Given the description of an element on the screen output the (x, y) to click on. 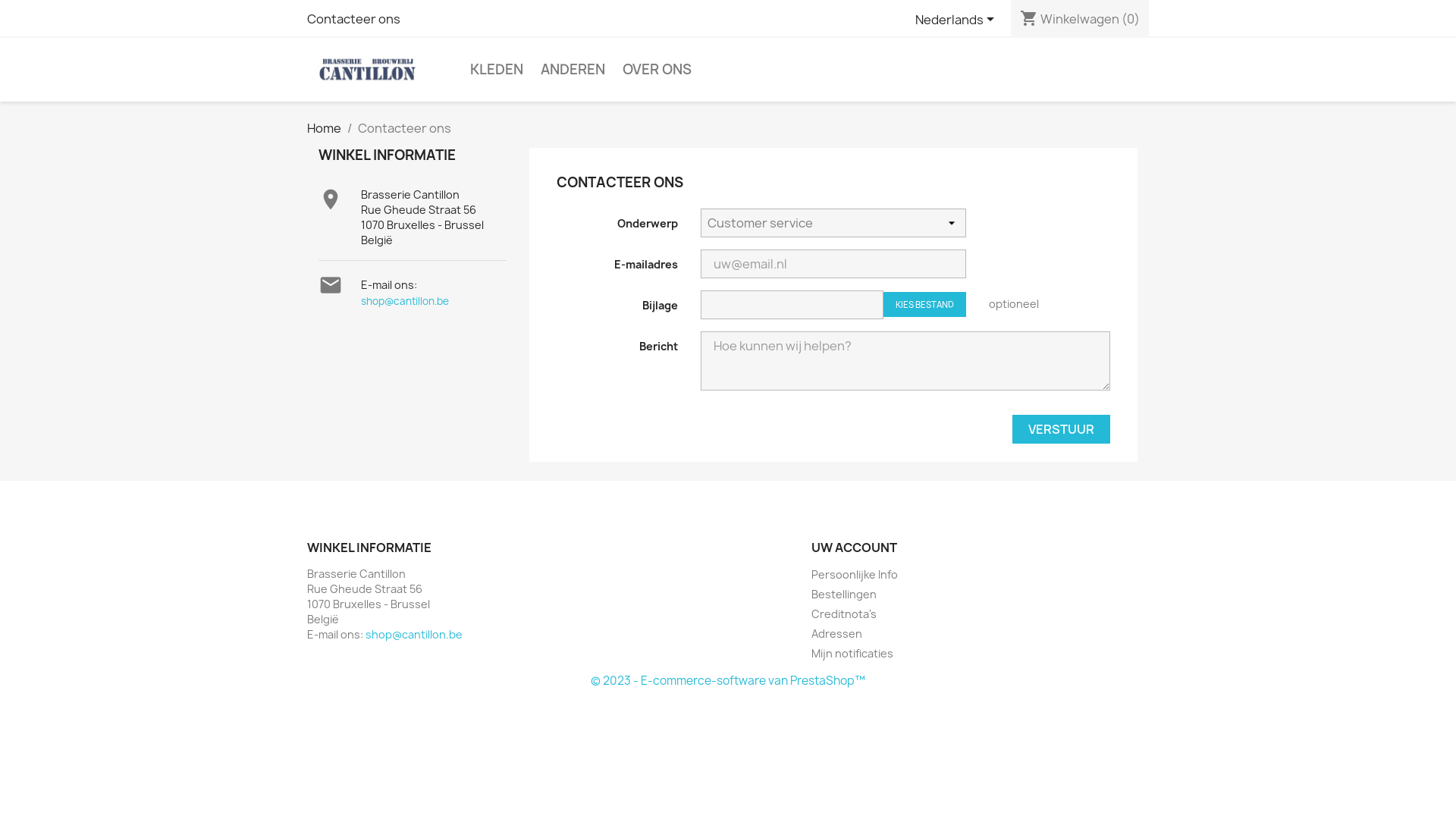
Home Element type: text (324, 127)
UW ACCOUNT Element type: text (854, 547)
KLEDEN Element type: text (496, 69)
shop@cantillon.be Element type: text (404, 300)
Contacteer ons Element type: text (353, 18)
Mijn notificaties Element type: text (852, 653)
Adressen Element type: text (836, 633)
Bestellingen Element type: text (843, 593)
Creditnota's Element type: text (843, 613)
Persoonlijke Info Element type: text (854, 574)
Verstuur Element type: text (1061, 428)
ANDEREN Element type: text (572, 69)
shop@cantillon.be Element type: text (413, 634)
OVER ONS Element type: text (657, 69)
